Given the description of an element on the screen output the (x, y) to click on. 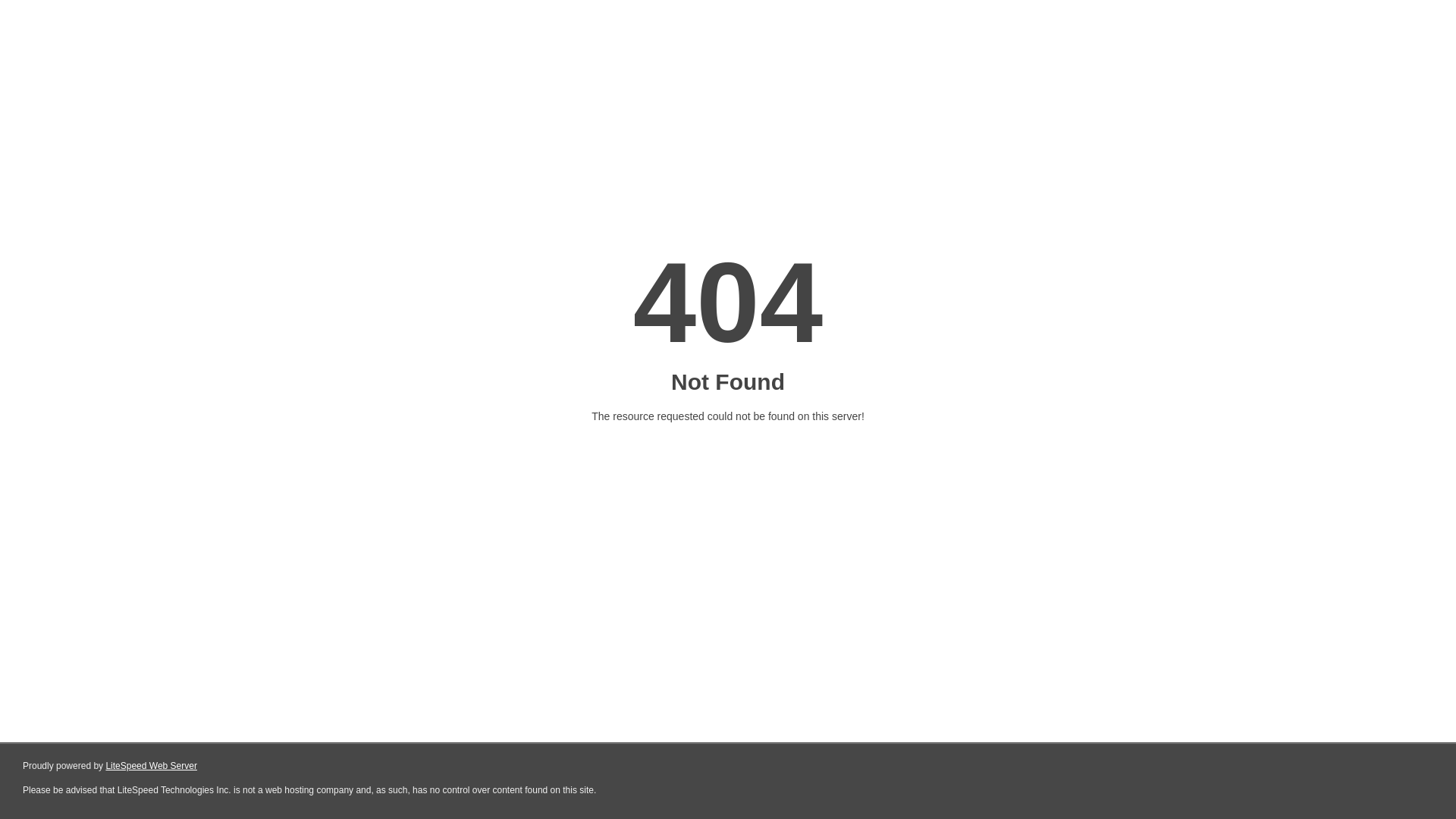
LiteSpeed Web Server Element type: text (151, 765)
